Given the description of an element on the screen output the (x, y) to click on. 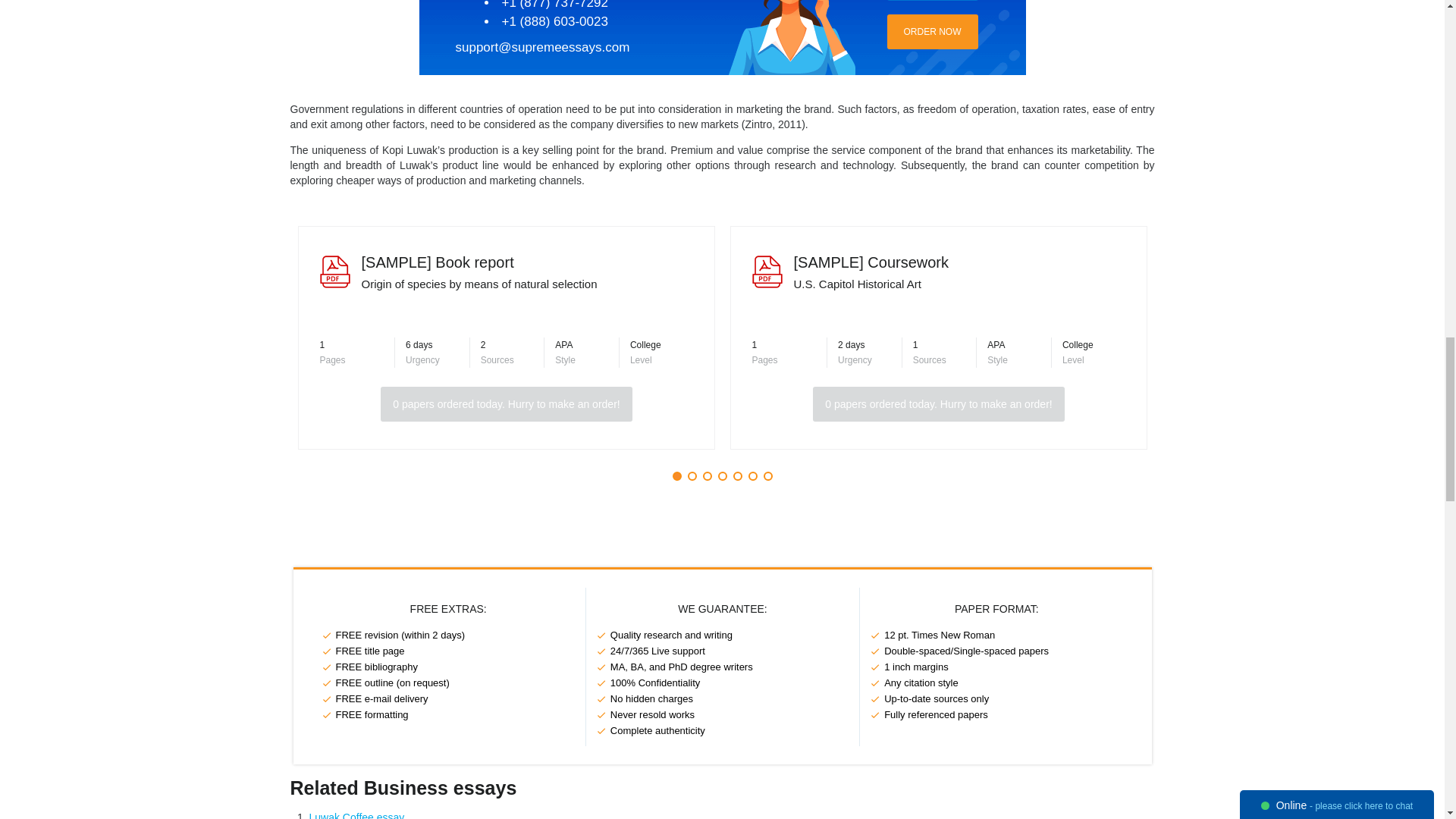
Luwak Coffee essay (356, 815)
ORDER NOW (932, 31)
